Given the description of an element on the screen output the (x, y) to click on. 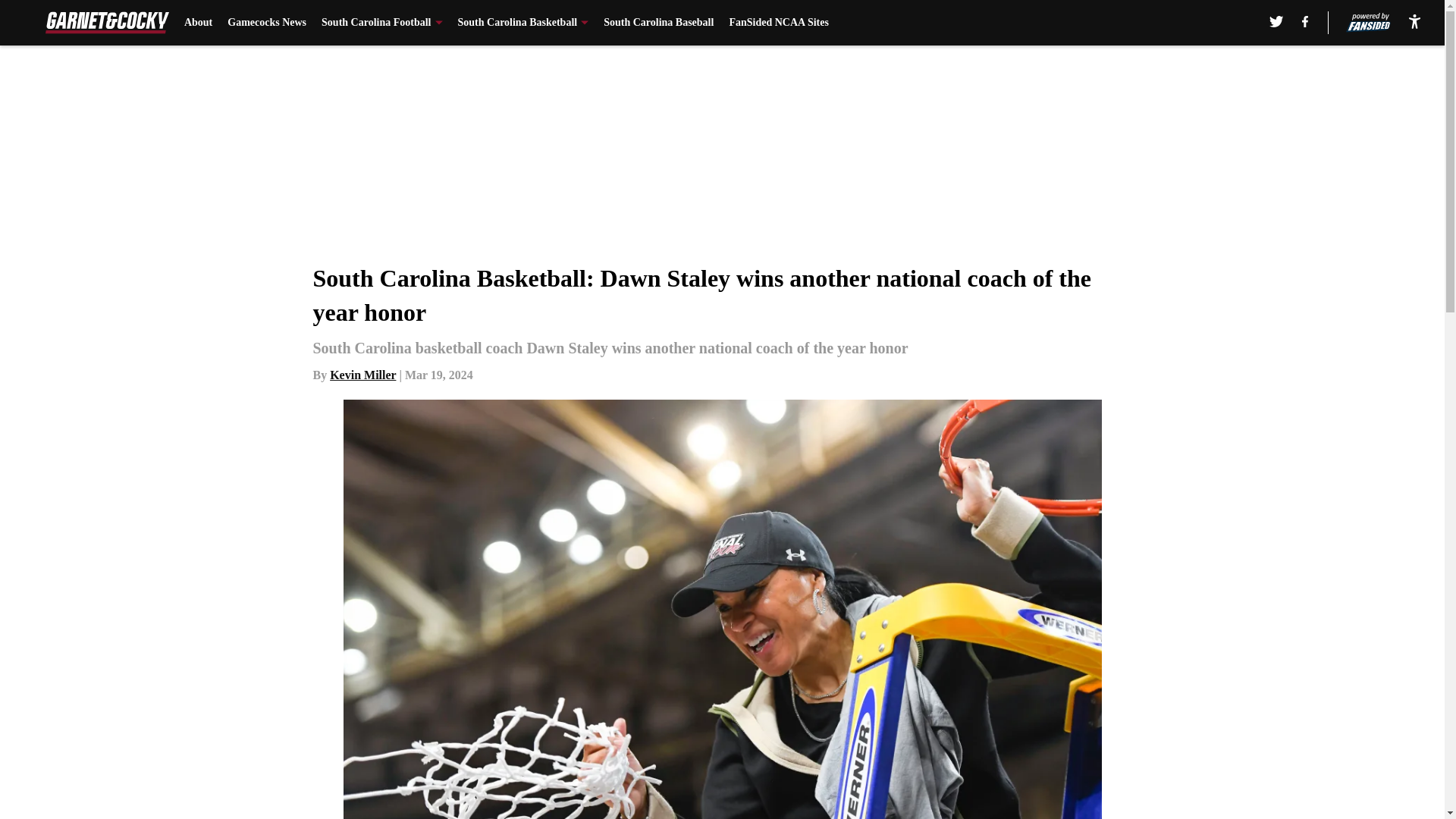
South Carolina Baseball (658, 22)
Gamecocks News (266, 22)
Kevin Miller (363, 374)
FanSided NCAA Sites (778, 22)
About (198, 22)
